Given the description of an element on the screen output the (x, y) to click on. 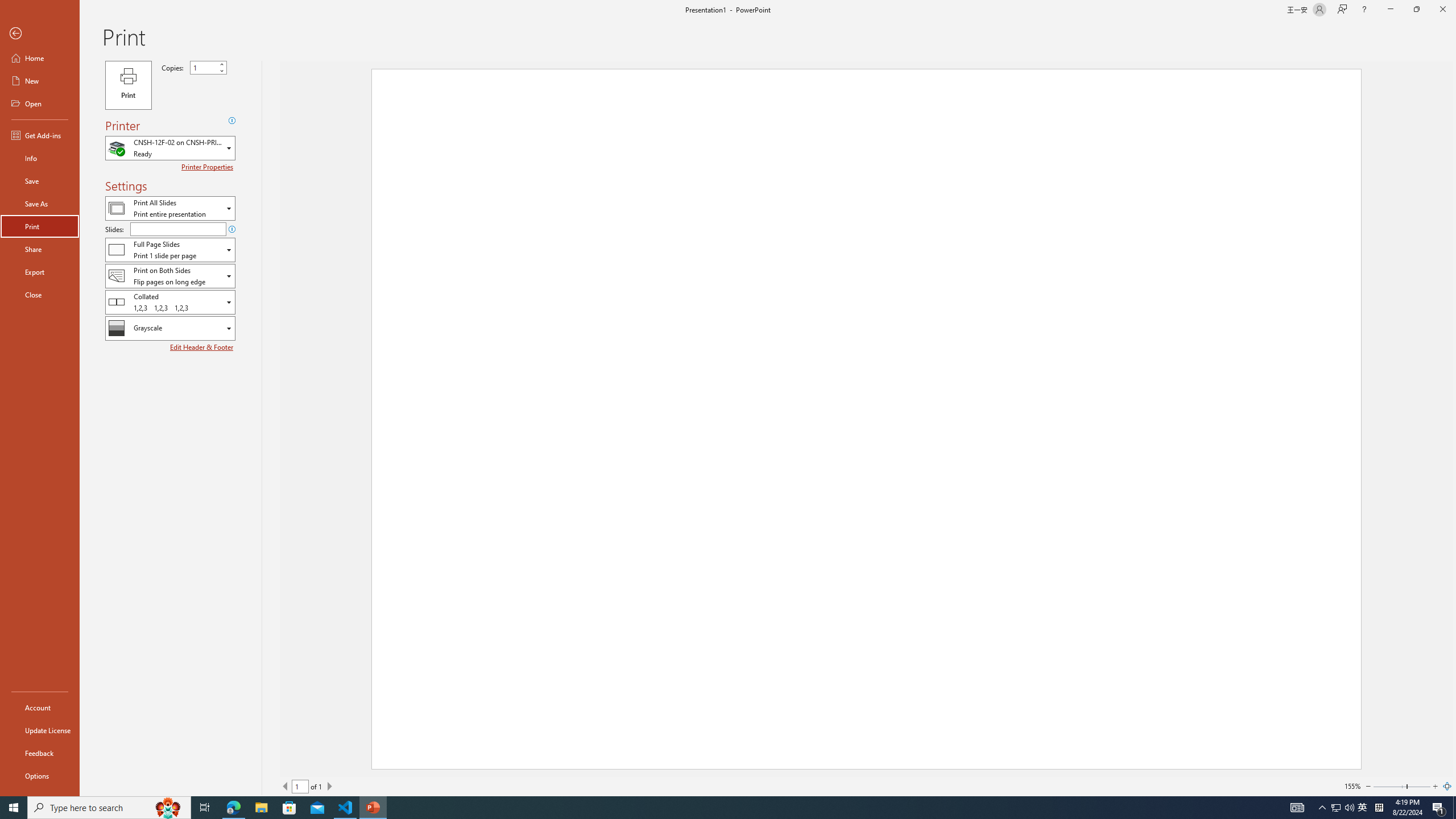
Copies (203, 67)
Slides (178, 228)
Edit Header & Footer (202, 347)
Next Page (328, 786)
Previous Page (285, 786)
Zoom to Page (1447, 786)
Info (40, 157)
Update License (40, 730)
Account (40, 707)
Export (40, 271)
Get Add-ins (40, 134)
